Given the description of an element on the screen output the (x, y) to click on. 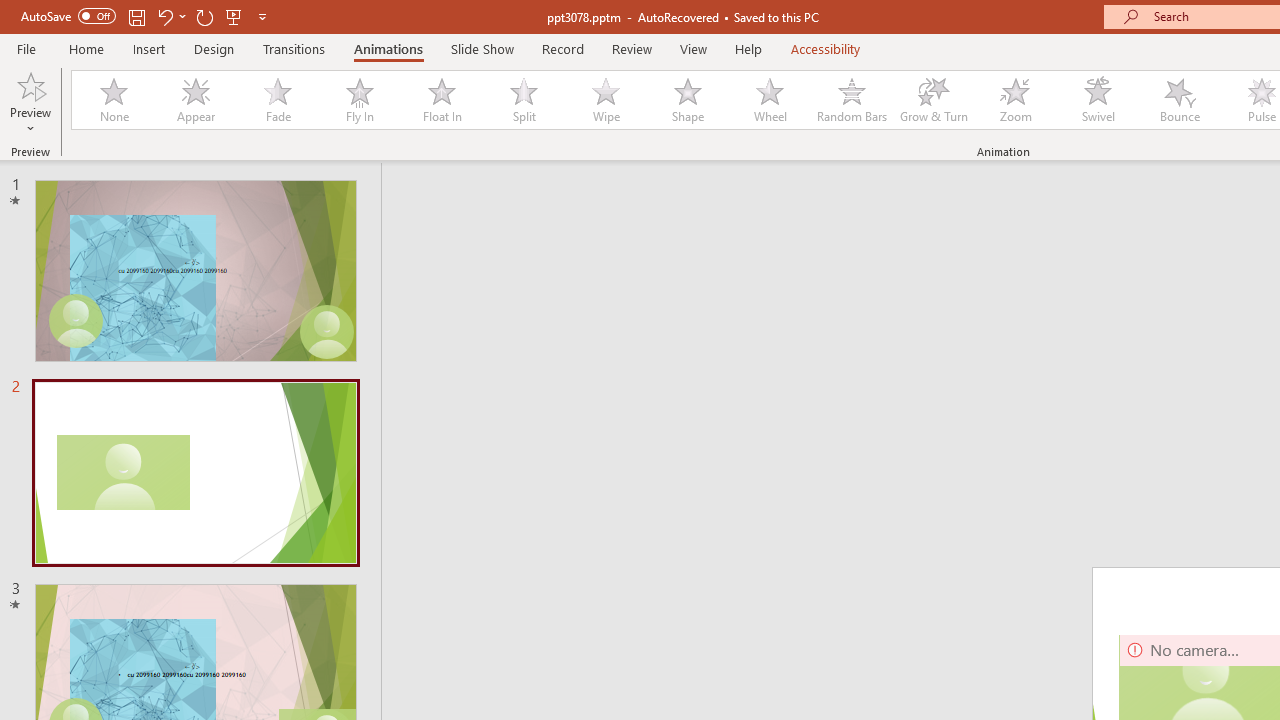
Grow & Turn (934, 100)
